Given the description of an element on the screen output the (x, y) to click on. 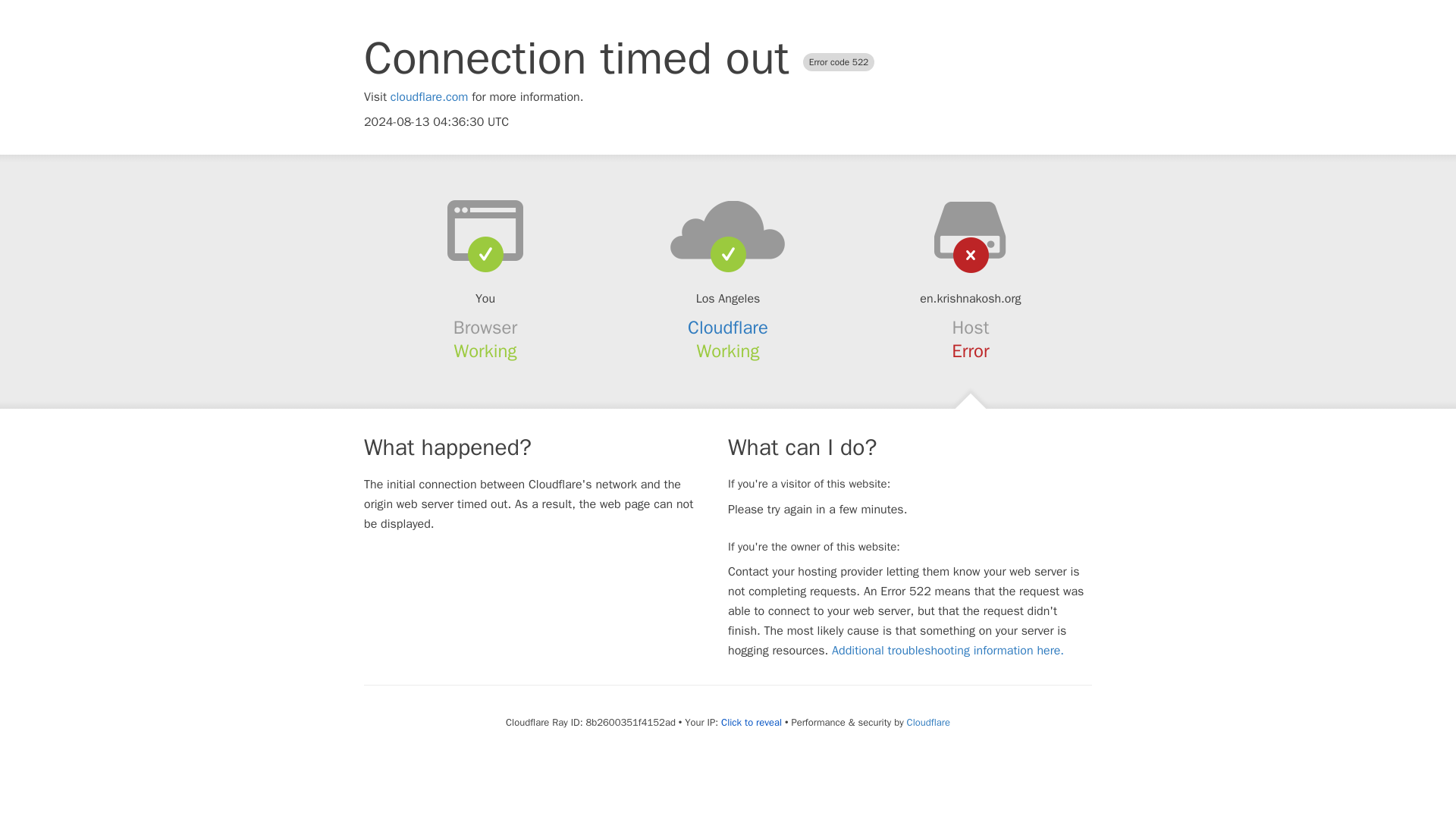
cloudflare.com (429, 96)
Cloudflare (928, 721)
Click to reveal (750, 722)
Cloudflare (727, 327)
Additional troubleshooting information here. (947, 650)
